Given the description of an element on the screen output the (x, y) to click on. 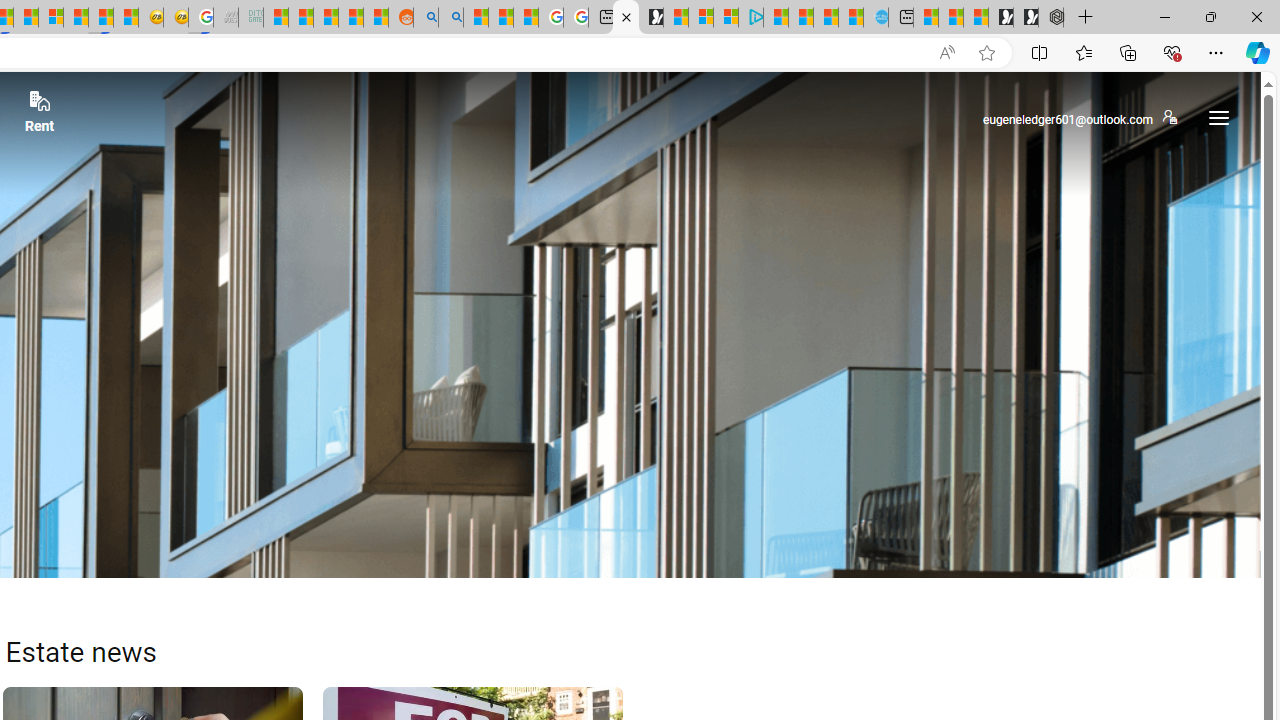
Home | Sky Blue Bikes - Sky Blue Bikes (876, 17)
